Given the description of an element on the screen output the (x, y) to click on. 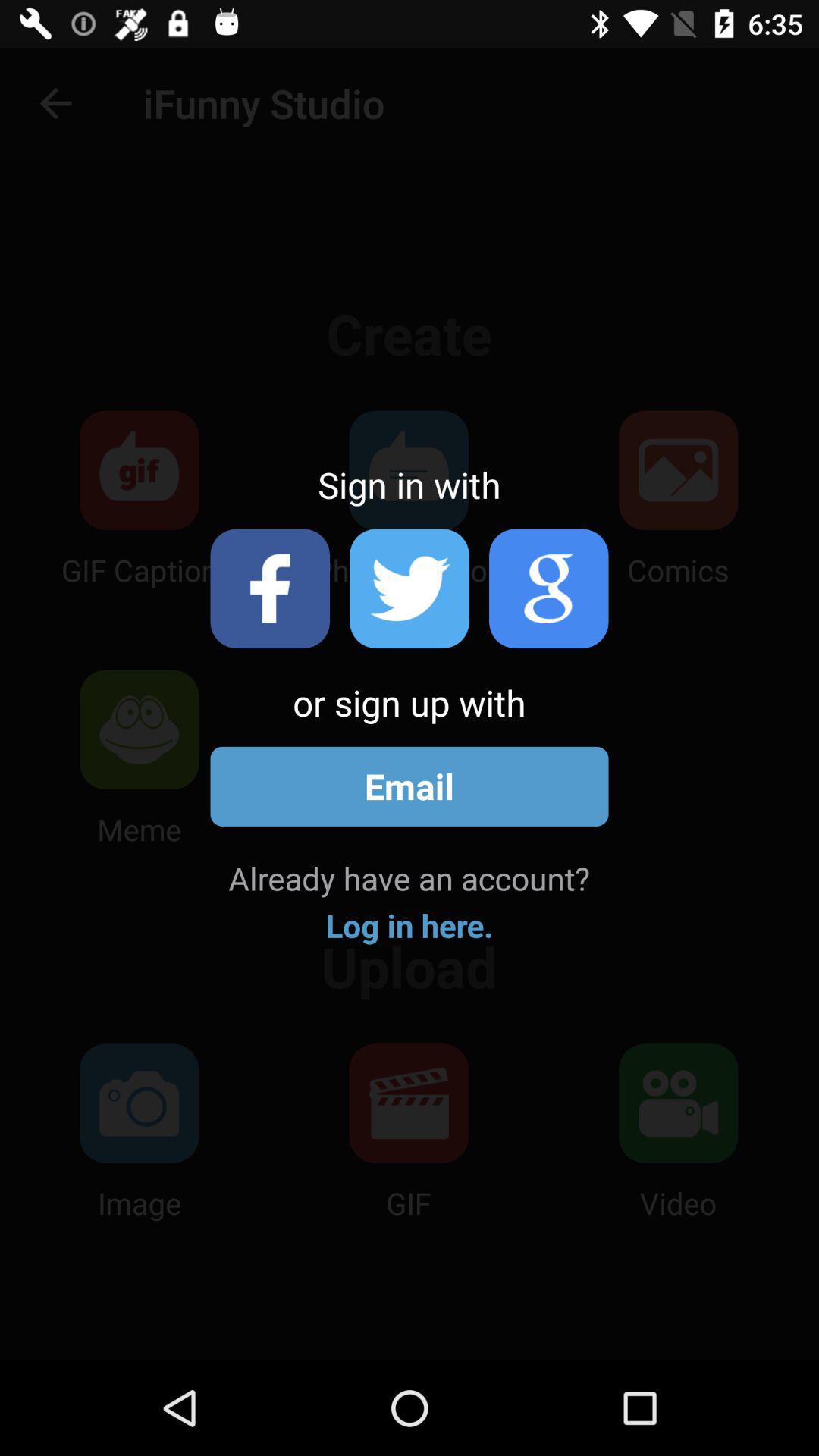
click google icon (548, 588)
